Given the description of an element on the screen output the (x, y) to click on. 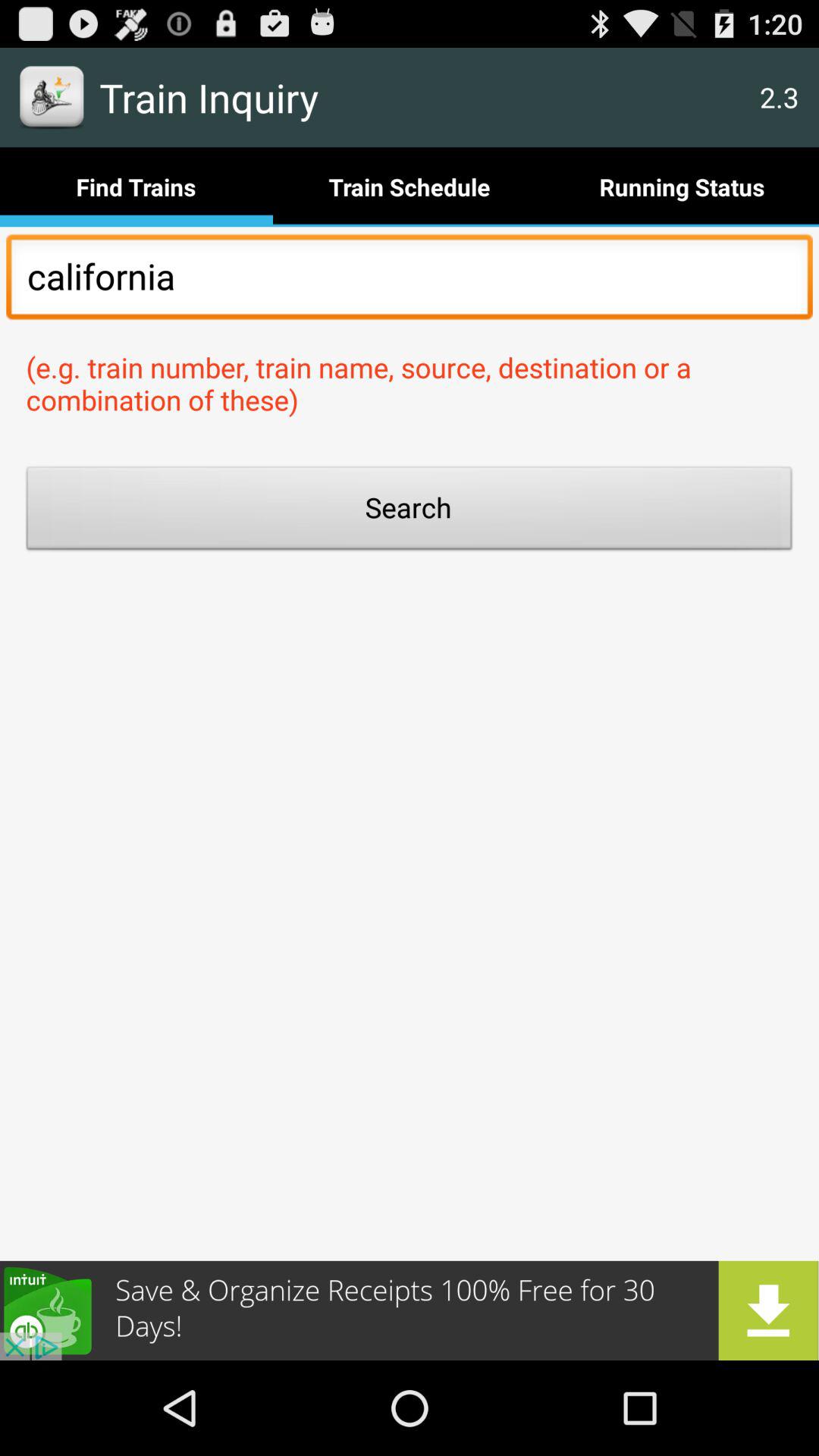
see advertisement (409, 1310)
